Given the description of an element on the screen output the (x, y) to click on. 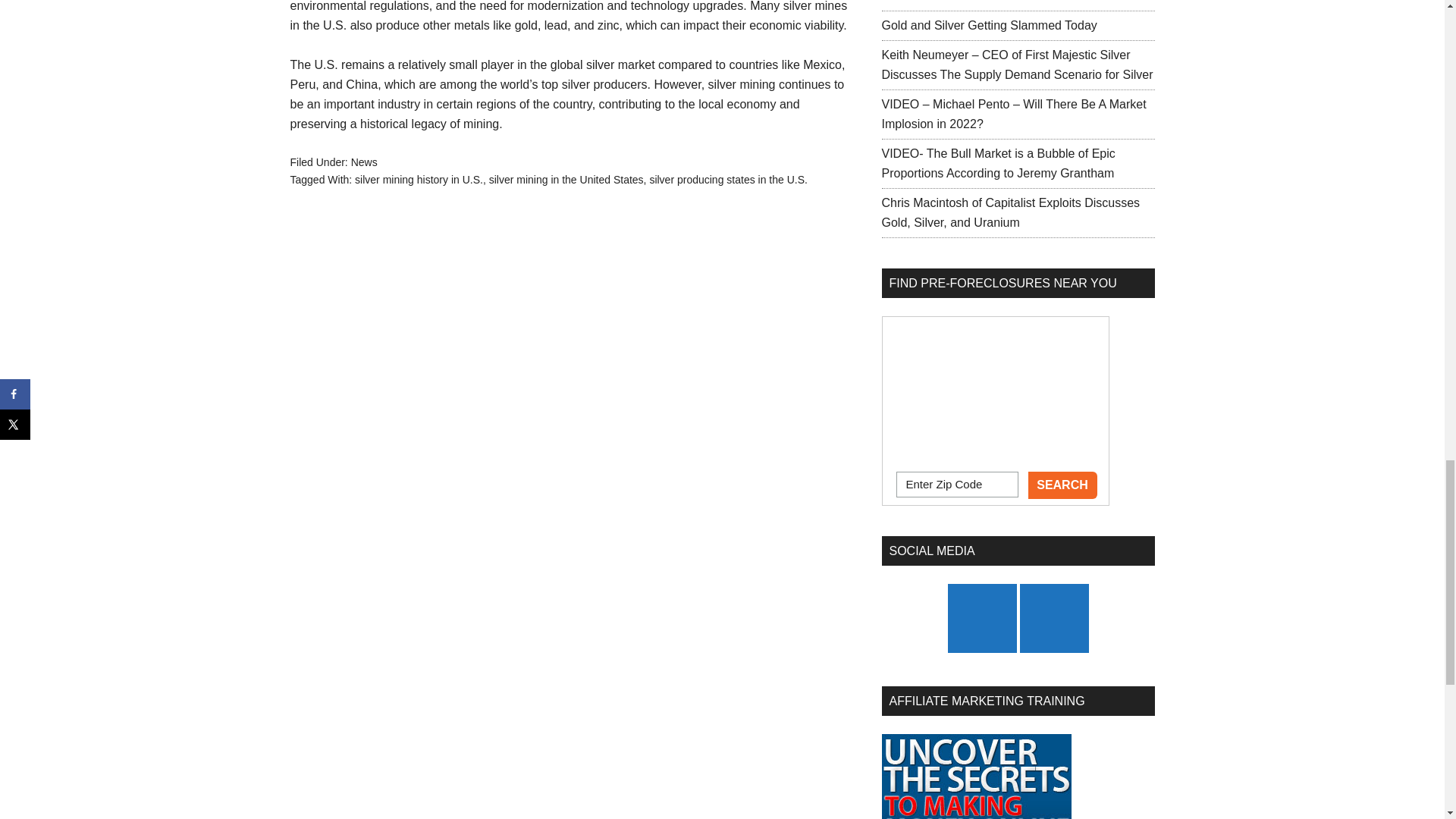
Search (1062, 484)
silver producing states in the U.S. (728, 179)
silver mining history in U.S. (419, 179)
News (363, 162)
silver mining in the United States (566, 179)
Affiliate Marketing Training (975, 776)
